Given the description of an element on the screen output the (x, y) to click on. 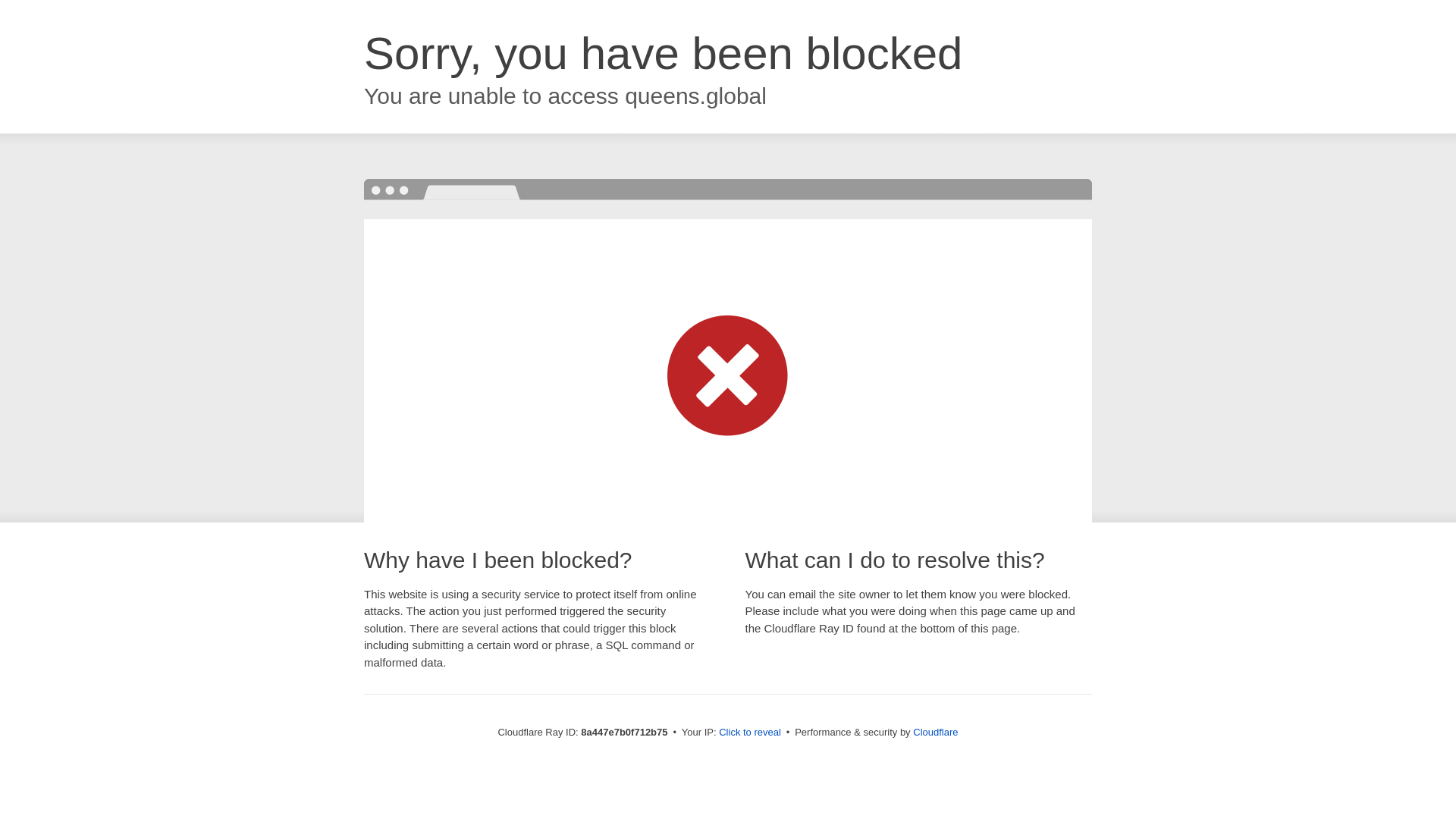
Click to reveal (749, 732)
Cloudflare (935, 731)
